Given the description of an element on the screen output the (x, y) to click on. 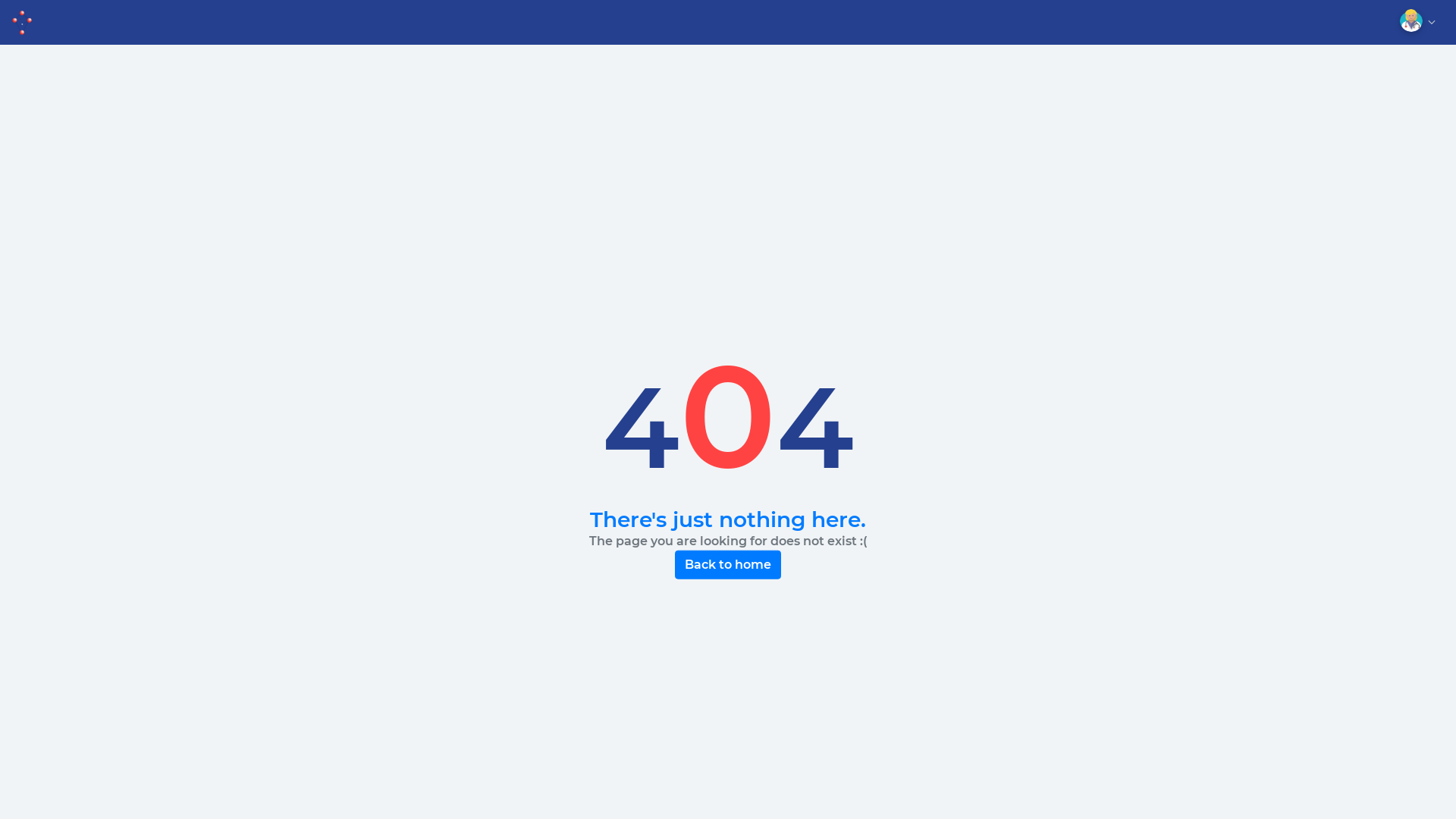
Back to home Element type: text (727, 564)
